Given the description of an element on the screen output the (x, y) to click on. 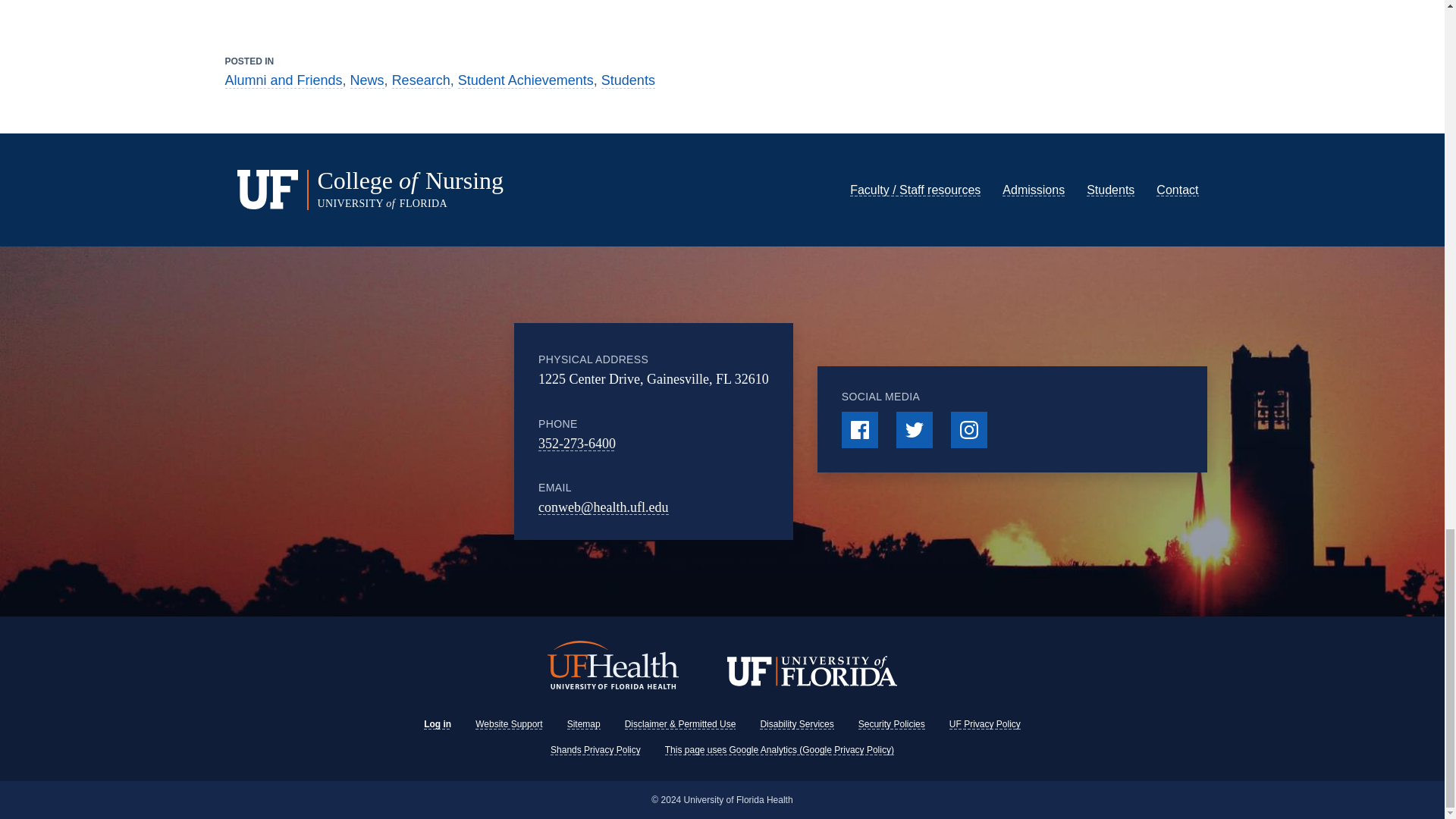
Disability Services (796, 724)
Google Maps Embed (423, 431)
Students (1110, 189)
Sitemap (583, 724)
Log in (437, 724)
352-273-6400 (576, 443)
UF Privacy Policy (984, 724)
Contact (1177, 189)
Admissions (1033, 189)
Shands Privacy Policy (595, 749)
